Given the description of an element on the screen output the (x, y) to click on. 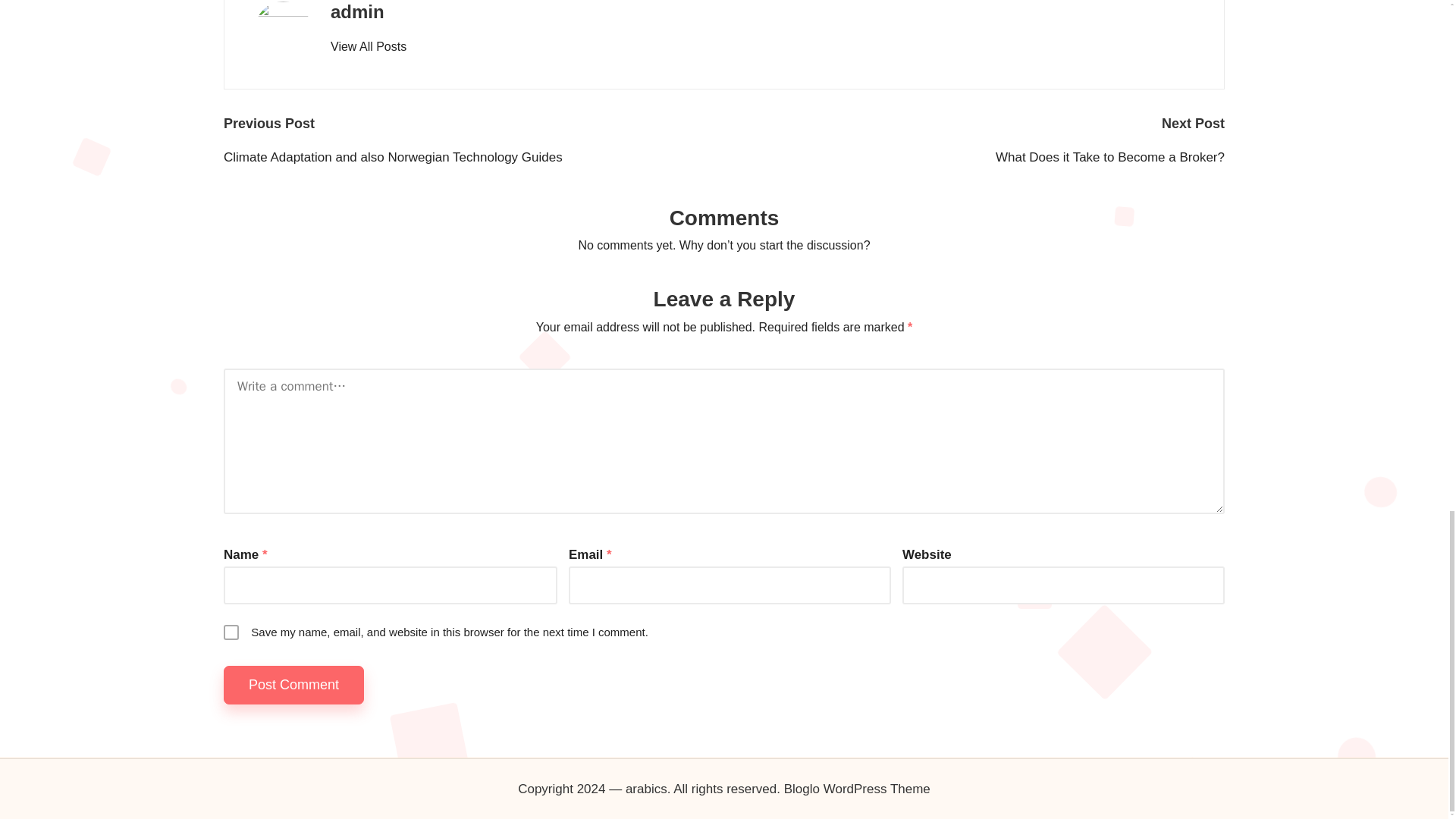
Climate Adaptation and also Norwegian Technology Guides (473, 157)
Post Comment (294, 684)
Bloglo WordPress Theme (857, 789)
Post Comment (294, 684)
yes (231, 631)
admin (357, 11)
View All Posts (368, 46)
What Does it Take to Become a Broker? (973, 157)
